Given the description of an element on the screen output the (x, y) to click on. 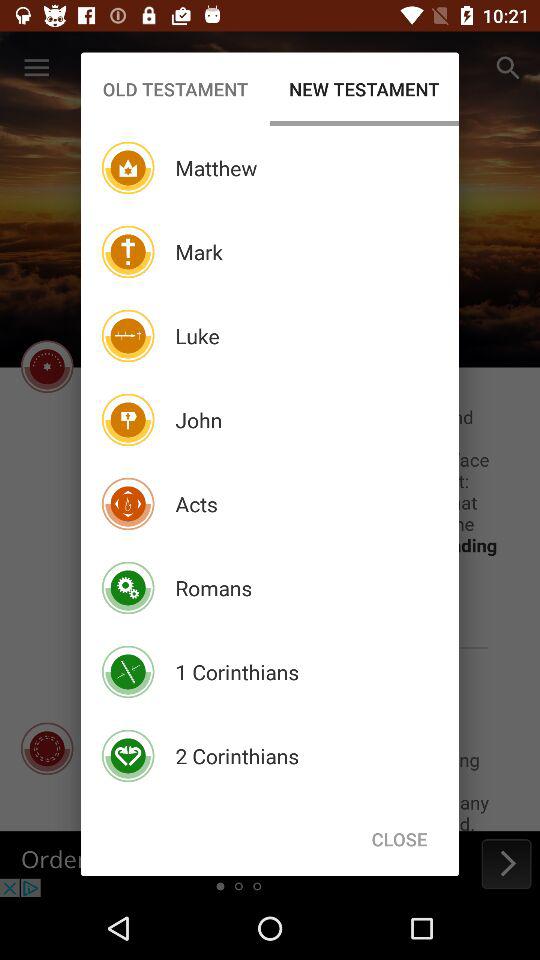
choose the close icon (399, 838)
